Given the description of an element on the screen output the (x, y) to click on. 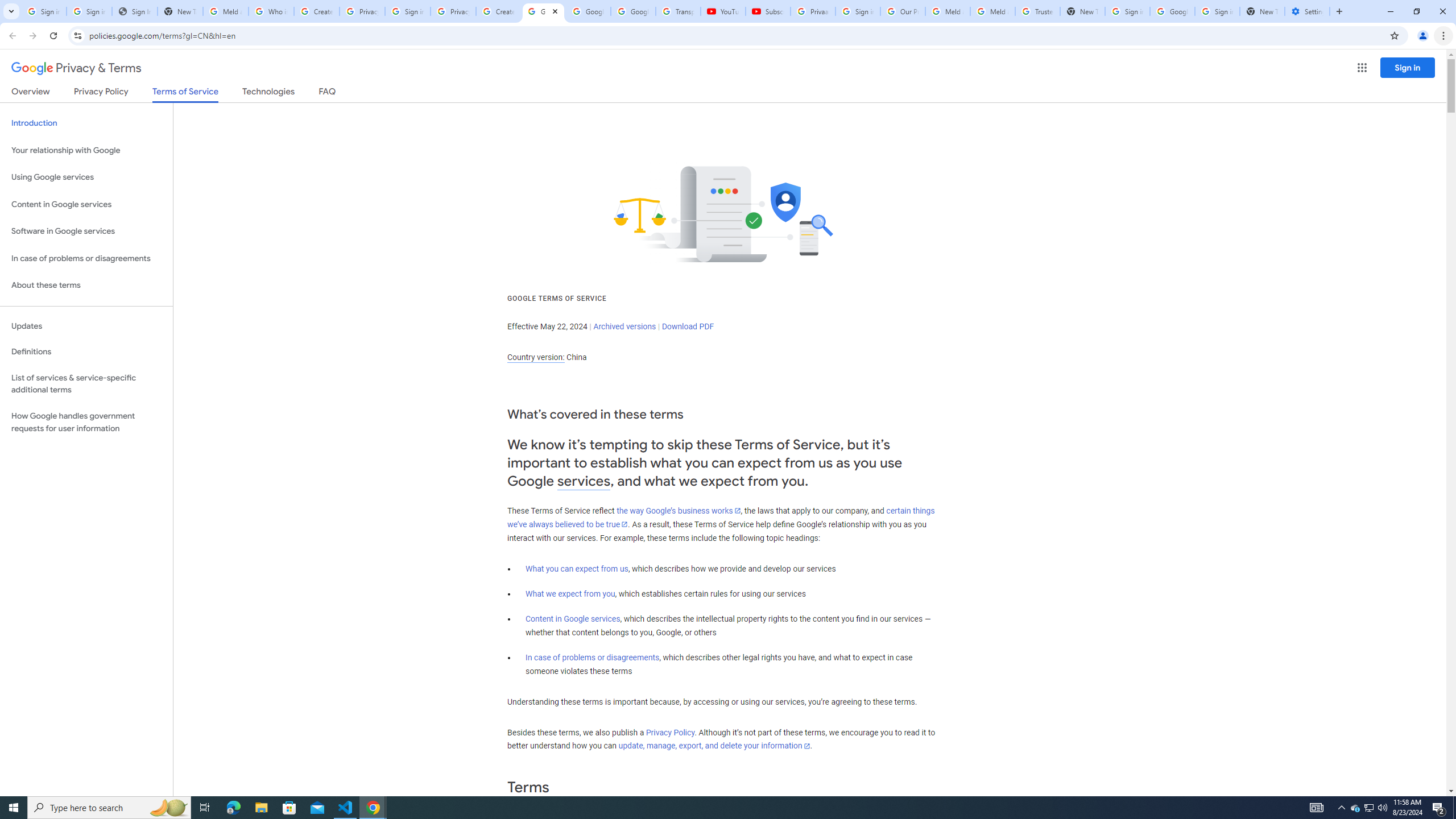
Archived versions (624, 326)
Sign in - Google Accounts (88, 11)
Google Cybersecurity Innovations - Google Safety Center (1171, 11)
Using Google services (86, 176)
Sign in - Google Accounts (1126, 11)
Sign in - Google Accounts (43, 11)
